Given the description of an element on the screen output the (x, y) to click on. 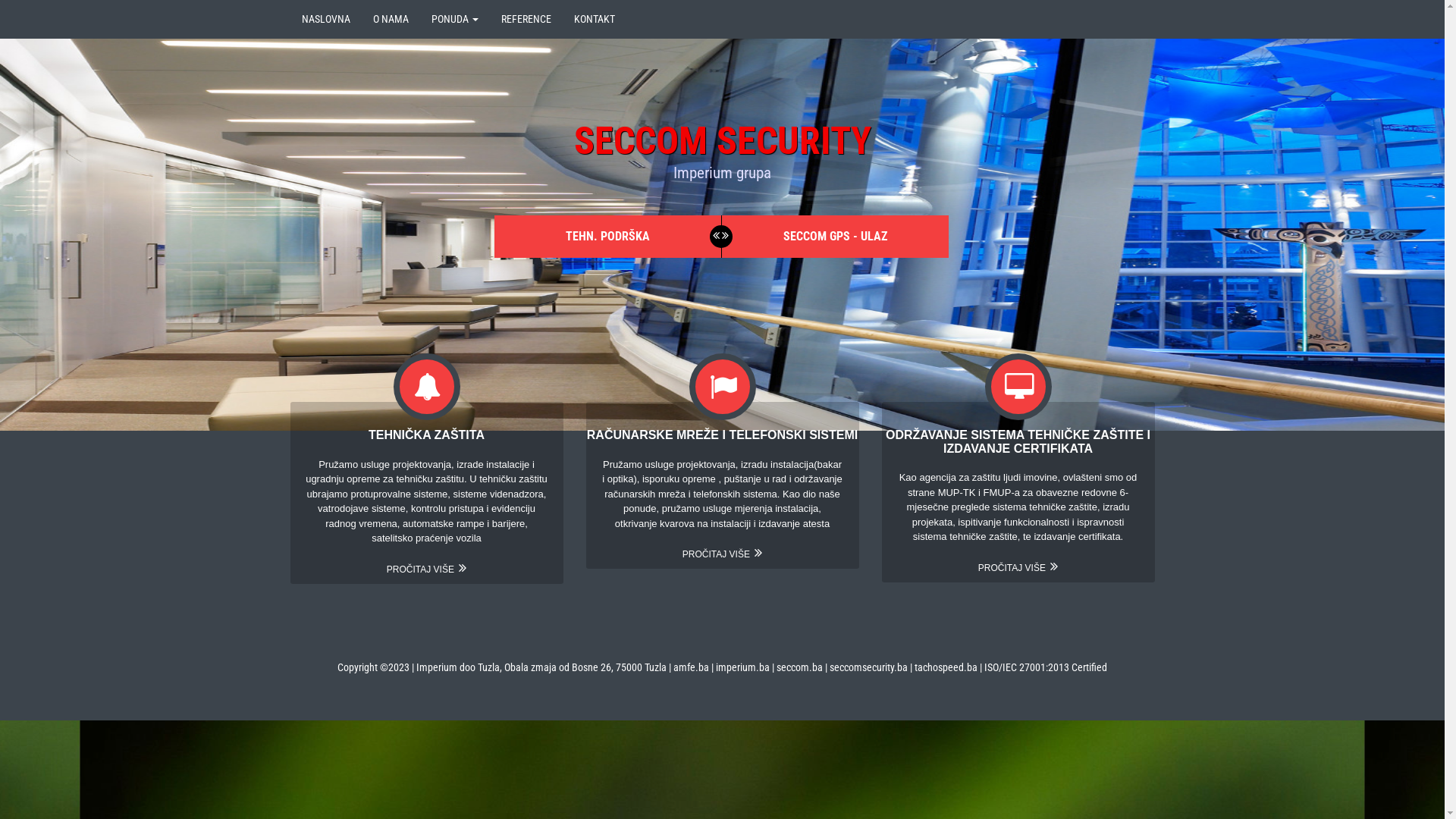
PONUDA Element type: text (454, 18)
amfe.ba Element type: text (692, 667)
tachospeed.ba Element type: text (945, 667)
imperium.ba Element type: text (743, 667)
seccomsecurity.ba Element type: text (869, 667)
KONTAKT Element type: text (594, 18)
REFERENCE Element type: text (525, 18)
SECCOM SECURITY Element type: text (721, 141)
seccom.ba Element type: text (799, 667)
O NAMA Element type: text (389, 18)
NASLOVNA Element type: text (324, 18)
SECCOM GPS - ULAZ Element type: text (834, 236)
